Given the description of an element on the screen output the (x, y) to click on. 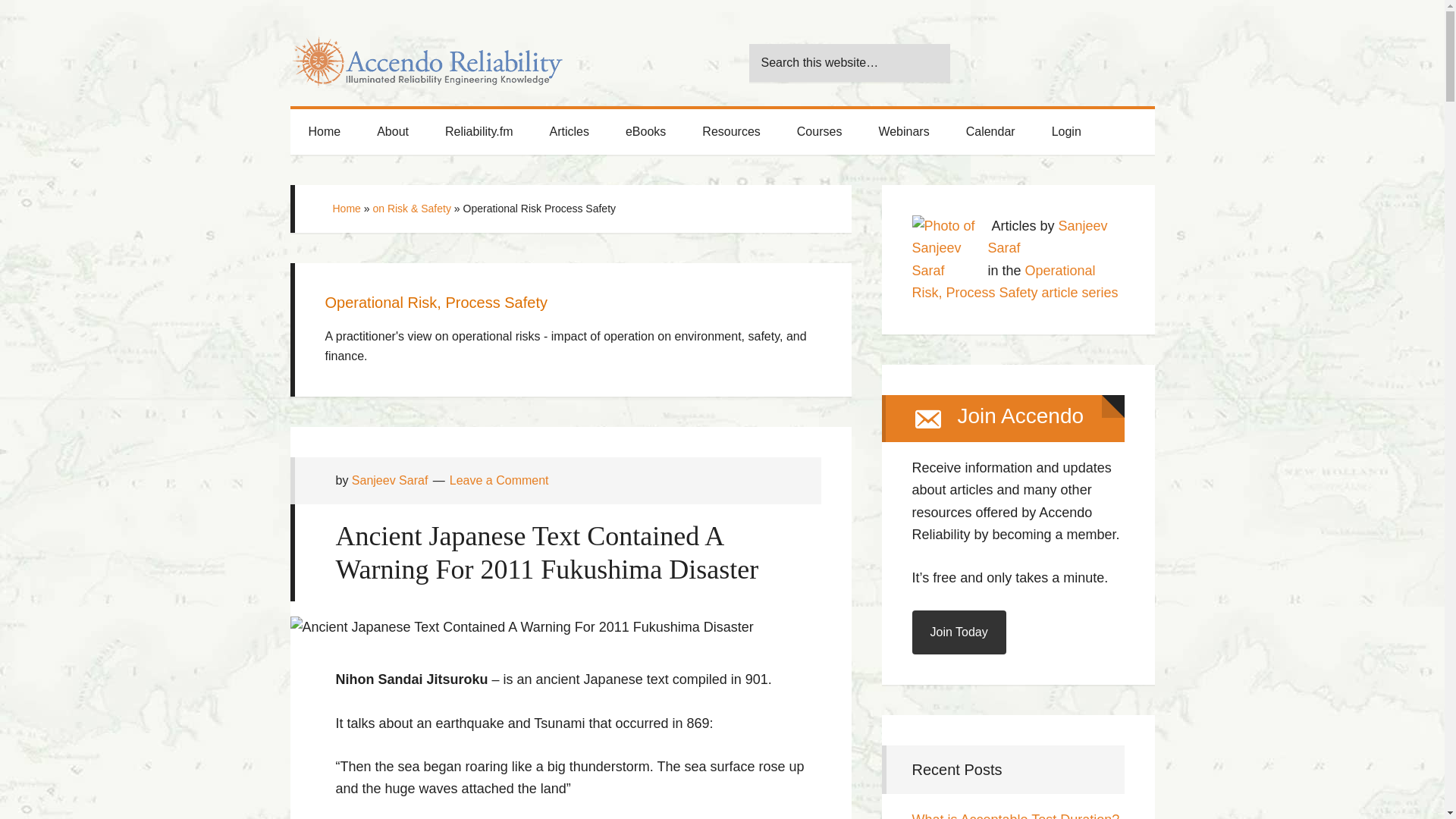
Home (323, 131)
Accendo Reliability (425, 53)
Reliability.fm (478, 131)
Free downloads for Accendo Reliability members (645, 131)
Articles (569, 131)
A reliability engineering focused podcast network (478, 131)
Home page (323, 131)
About (392, 131)
